Given the description of an element on the screen output the (x, y) to click on. 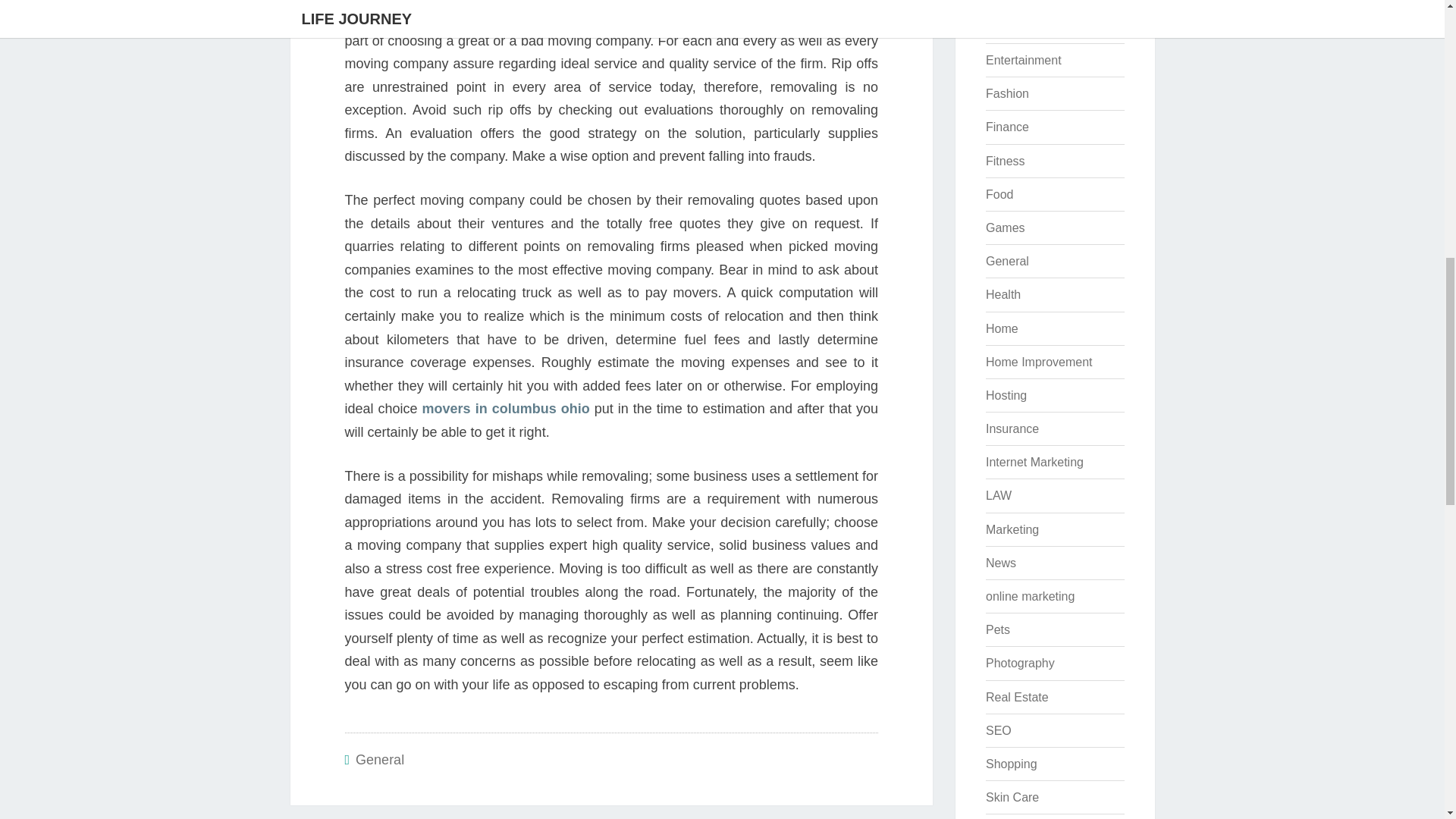
Home (1001, 328)
Fitness (1005, 160)
Finance (1007, 126)
General (1007, 260)
Employment (1018, 26)
General (379, 759)
Fashion (1007, 92)
Pets (997, 629)
Insurance (1012, 428)
News (1000, 562)
